Given the description of an element on the screen output the (x, y) to click on. 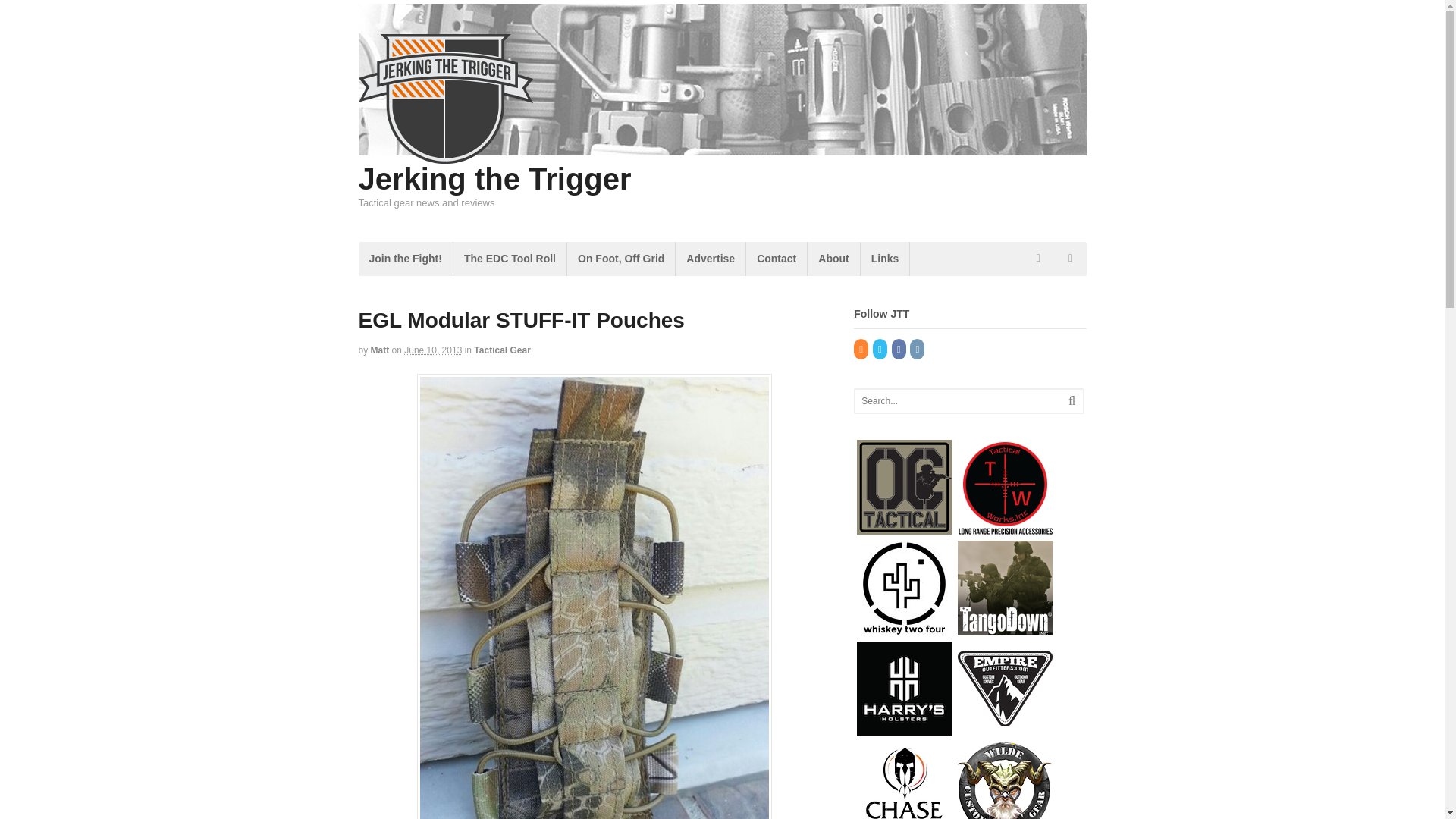
Tactical Gear (501, 349)
About (833, 258)
Links (885, 258)
Advertise (710, 258)
Matt (380, 349)
Jerking the Trigger (494, 178)
Search... (958, 400)
Tactical gear news and reviews (445, 155)
Contact (775, 258)
View all items in Tactical Gear (501, 349)
On Foot, Off Grid (621, 258)
Join the Fight! (404, 258)
The EDC Tool Roll (509, 258)
2013-06-10T06:00:09-0700 (432, 350)
Posts by Matt (380, 349)
